Given the description of an element on the screen output the (x, y) to click on. 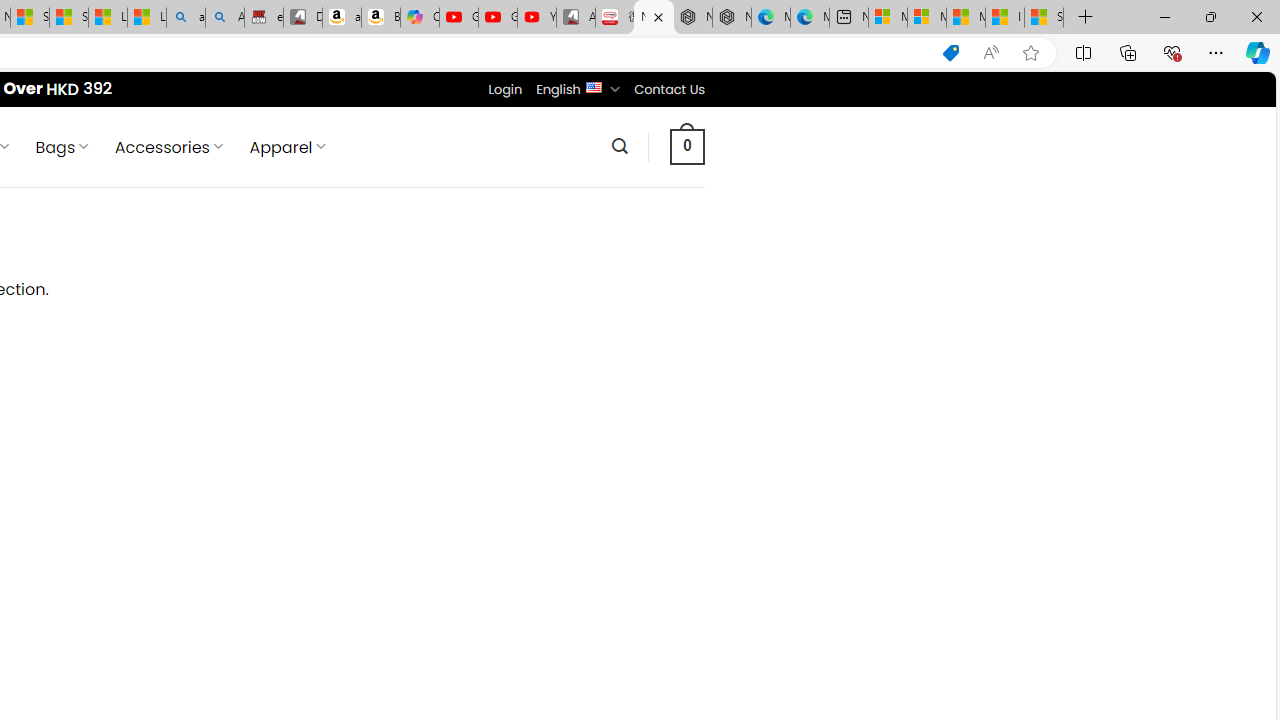
I Gained 20 Pounds of Muscle in 30 Days! | Watch (1004, 17)
Login (505, 89)
amazon.in/dp/B0CX59H5W7/?tag=gsmcom05-21 (341, 17)
